Given the description of an element on the screen output the (x, y) to click on. 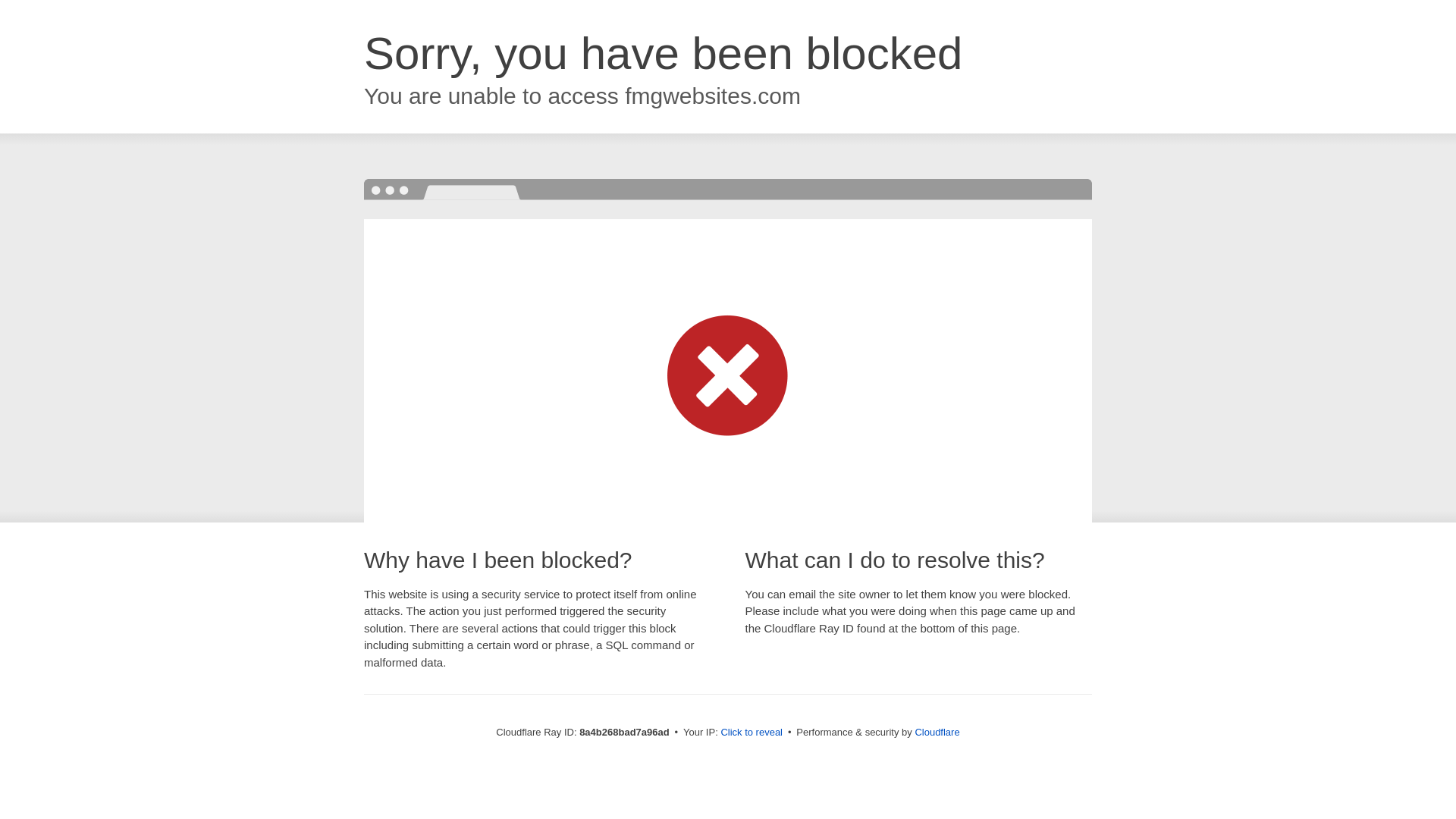
Click to reveal (751, 732)
Cloudflare (936, 731)
